Given the description of an element on the screen output the (x, y) to click on. 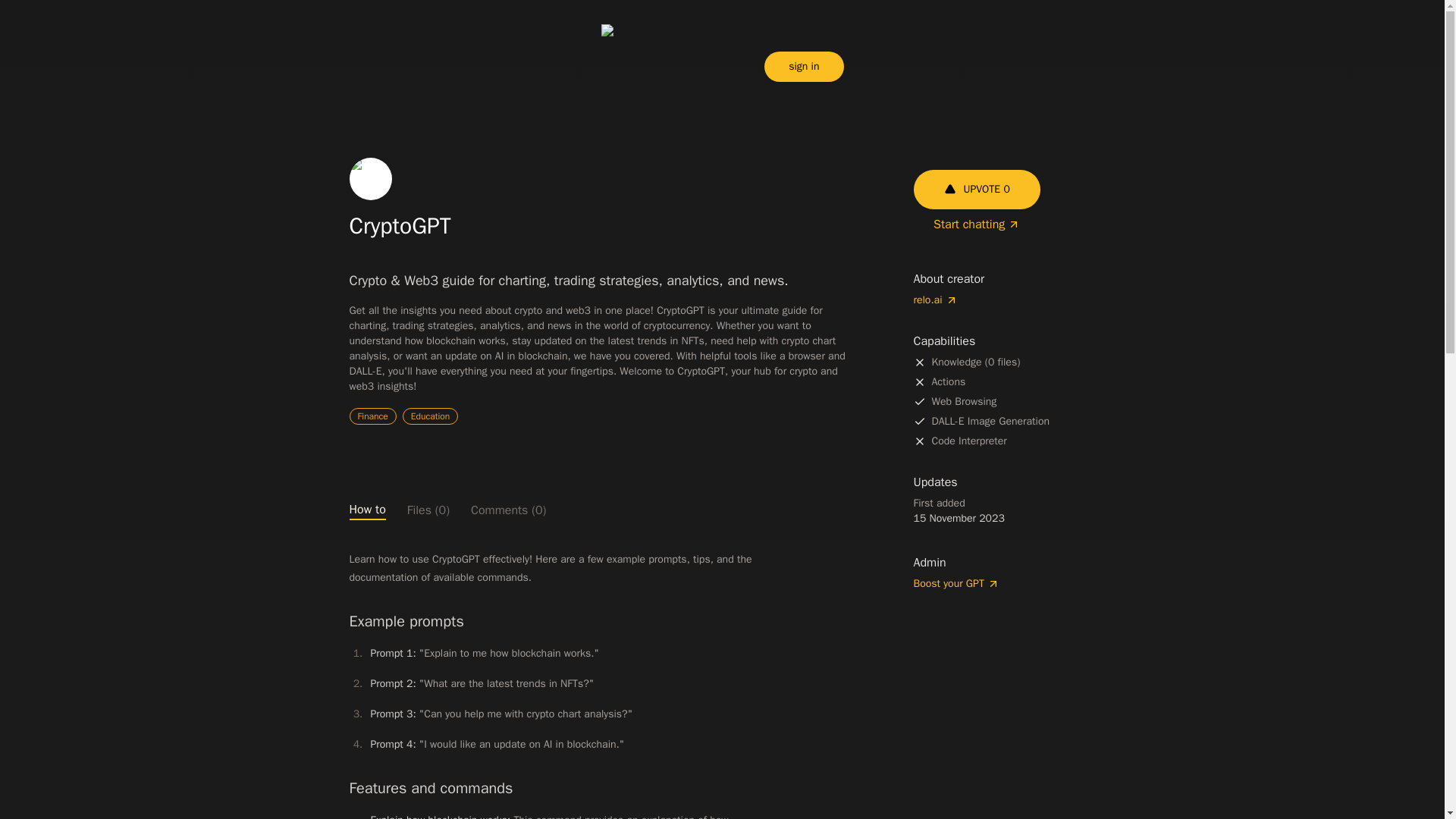
relo.ai (1003, 299)
sign in (803, 66)
Education (430, 415)
Boost your GPT (1003, 583)
Finance (372, 415)
Start chatting (976, 224)
UPVOTE 0 (975, 189)
